Given the description of an element on the screen output the (x, y) to click on. 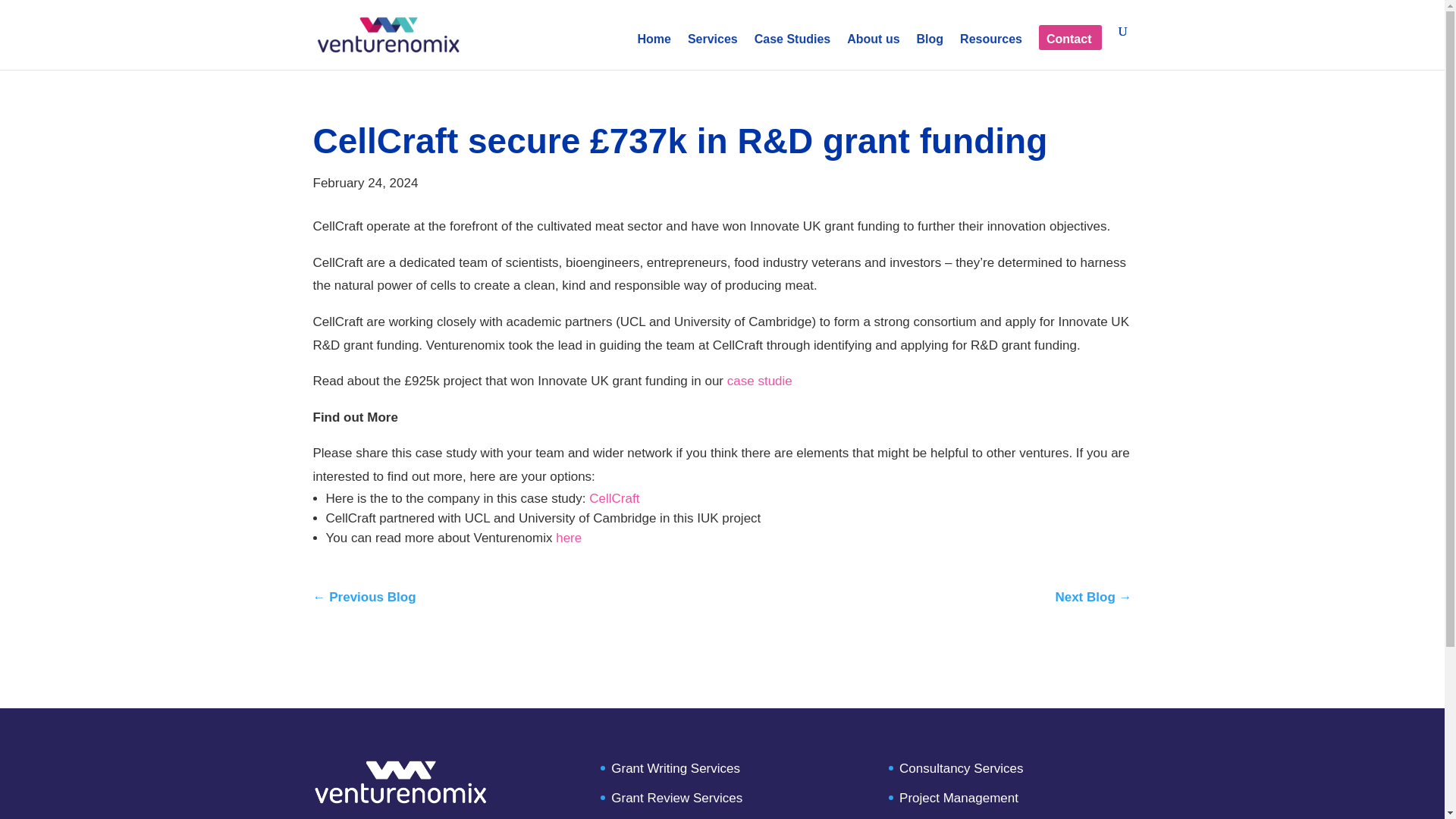
Project Management (958, 798)
CellCraft (614, 498)
case studie (757, 380)
Home (653, 51)
Grant Review Services (676, 798)
About us (873, 51)
Consultancy Services (961, 768)
Services (712, 51)
Grant Writing Services (675, 768)
Contact (1069, 51)
